Given the description of an element on the screen output the (x, y) to click on. 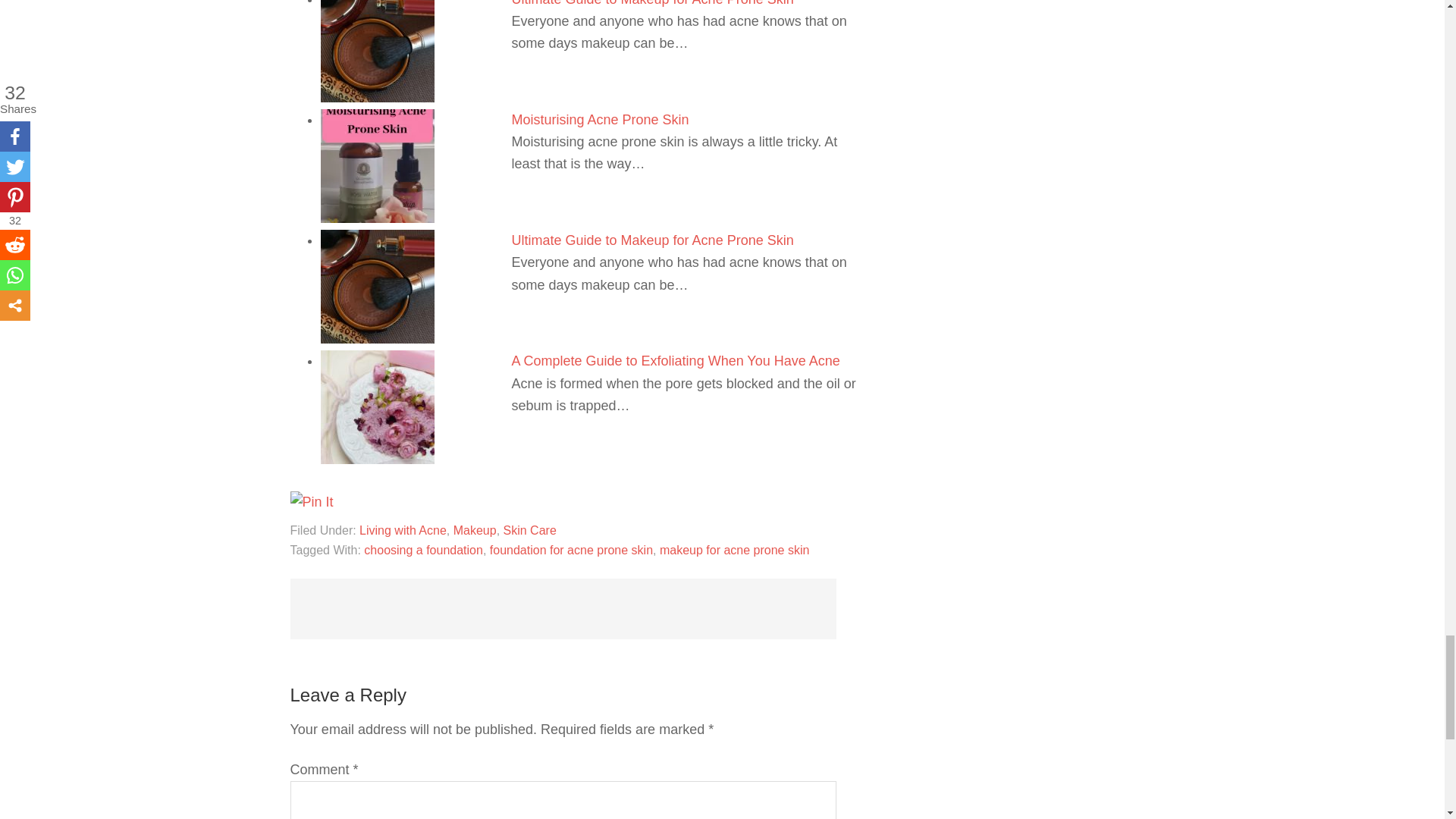
Moisturising Acne Prone Skin (599, 119)
makeup for acne prone skin (734, 549)
choosing a foundation (423, 549)
Living with Acne (402, 530)
A Complete Guide to Exfoliating When You Have Acne (675, 360)
foundation for acne prone skin (570, 549)
Skin Care (529, 530)
Makeup (474, 530)
Ultimate Guide to Makeup for Acne Prone Skin (652, 240)
Pin It (311, 502)
